Given the description of an element on the screen output the (x, y) to click on. 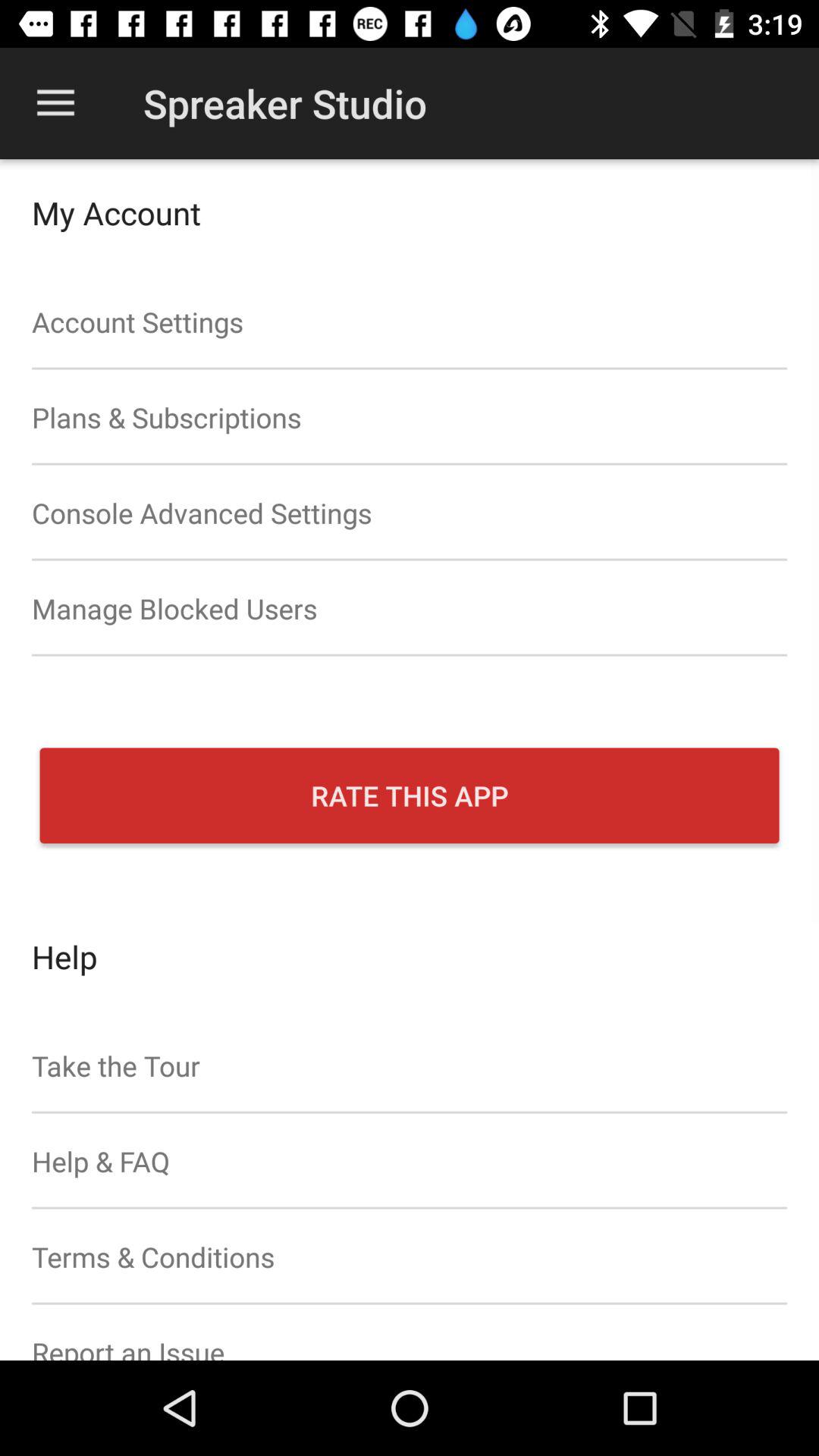
scroll to console advanced settings (409, 512)
